Given the description of an element on the screen output the (x, y) to click on. 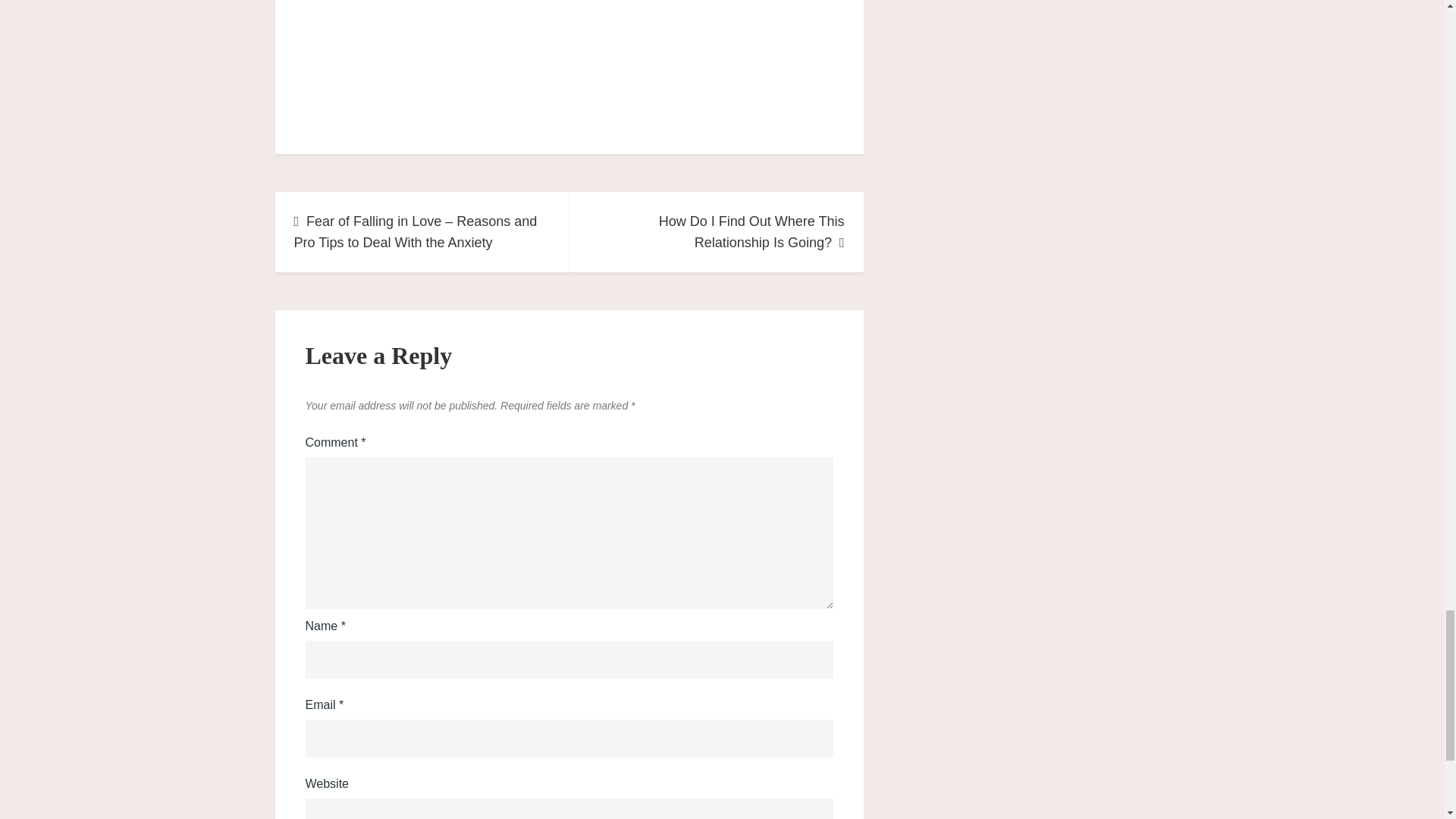
How Do I Find Out Where This Relationship Is Going? (716, 231)
